Given the description of an element on the screen output the (x, y) to click on. 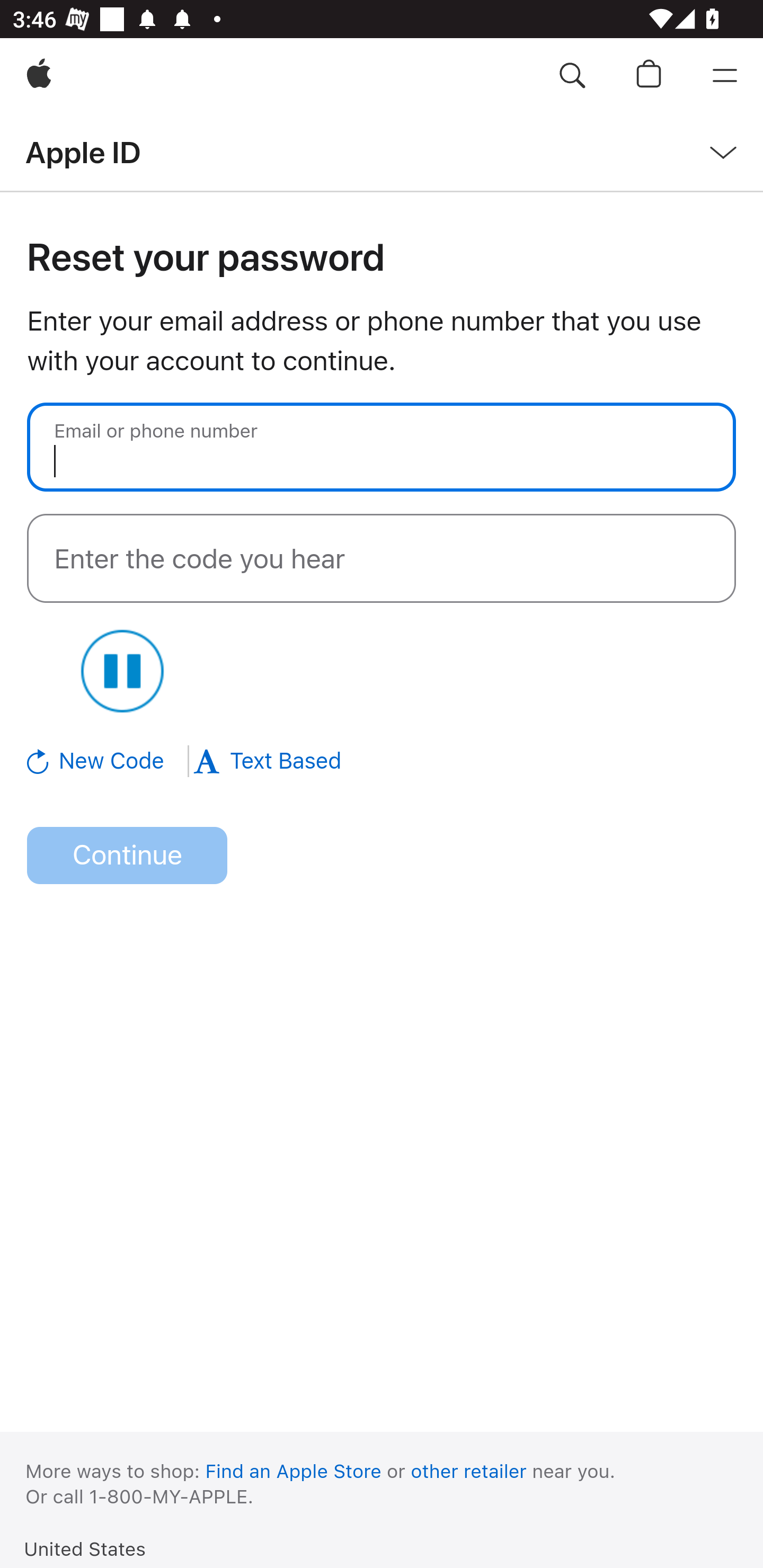
Apple (38, 75)
Search apple.com (572, 75)
Shopping Bag (648, 75)
Menu (724, 75)
Apple ID (83, 151)
Pause audio challenge (121, 671)
 New Code (108, 760)
 Text Based (266, 760)
Continue (126, 855)
Find an Apple Store (293, 1470)
other retailer (468, 1470)
United States (84, 1548)
